Given the description of an element on the screen output the (x, y) to click on. 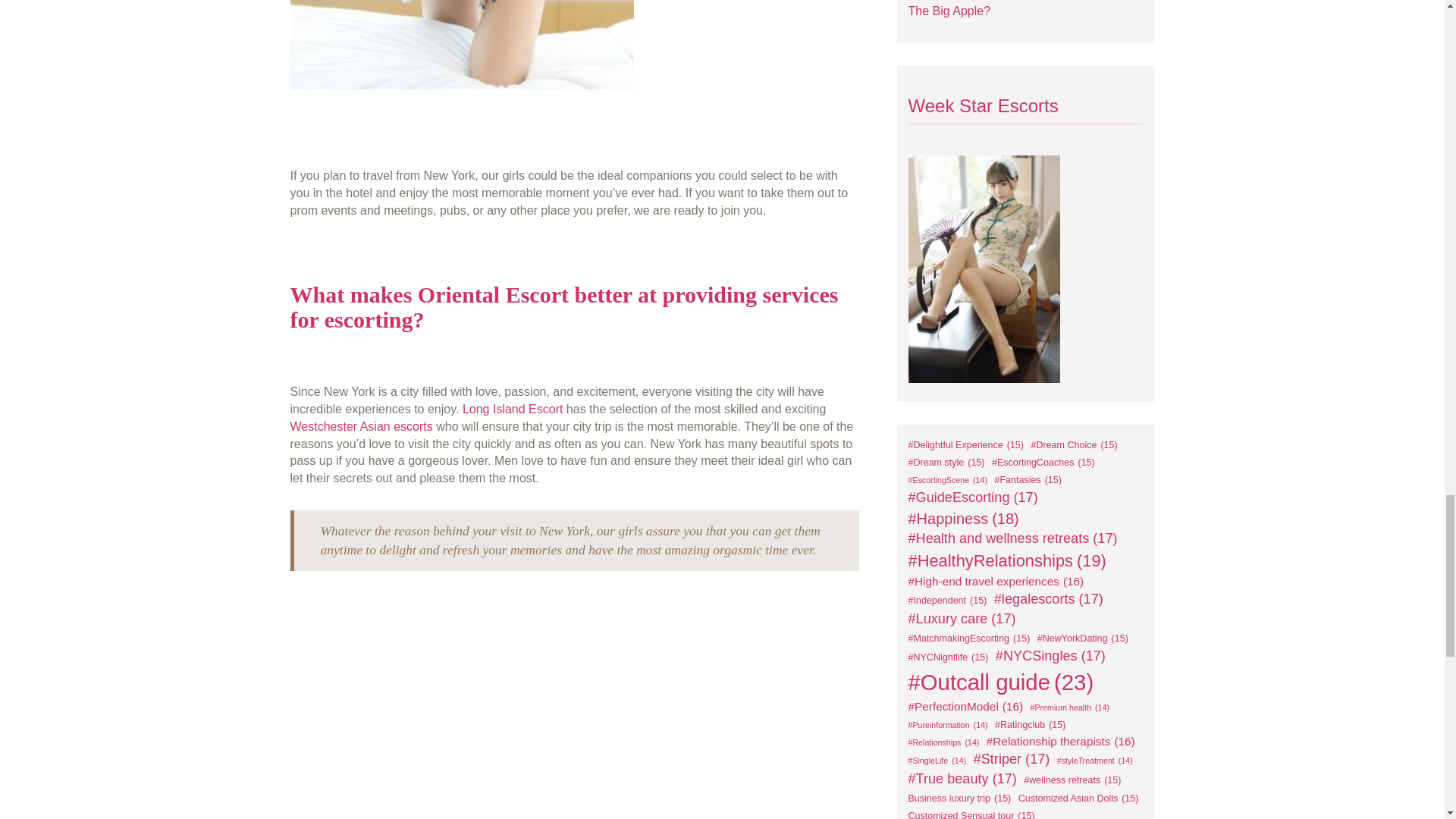
Long Island Escort (513, 408)
Westchester Asian escorts (360, 426)
